Given the description of an element on the screen output the (x, y) to click on. 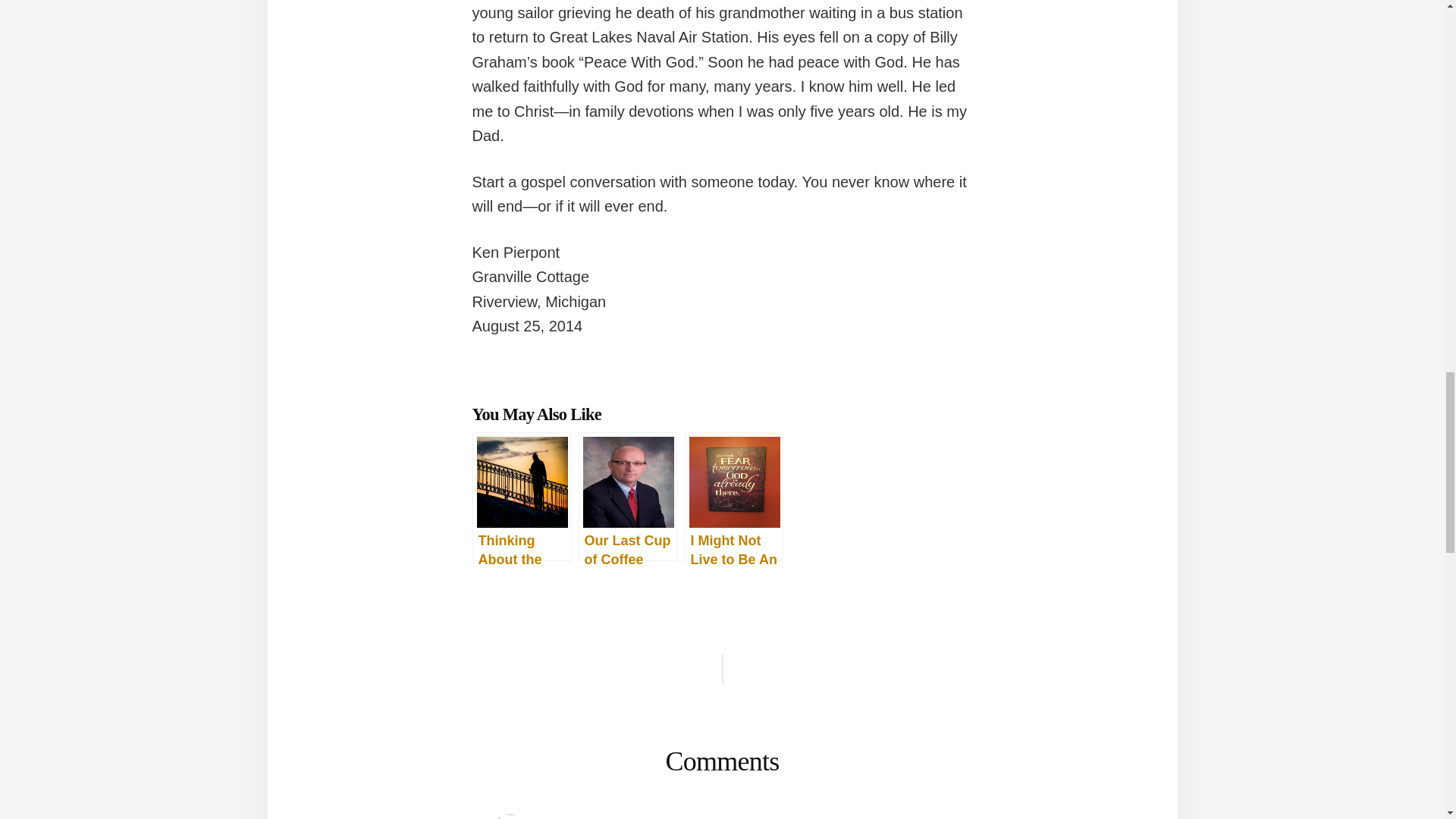
Thinking About the Rest of My Life (520, 496)
Thinking About the Rest of My Life (520, 496)
Our Last Cup of Coffee (627, 496)
Our Last Cup of Coffee (627, 496)
I Might Not Live to Be An Old Man (733, 496)
I Might Not Live to Be An Old Man (733, 496)
